Given the description of an element on the screen output the (x, y) to click on. 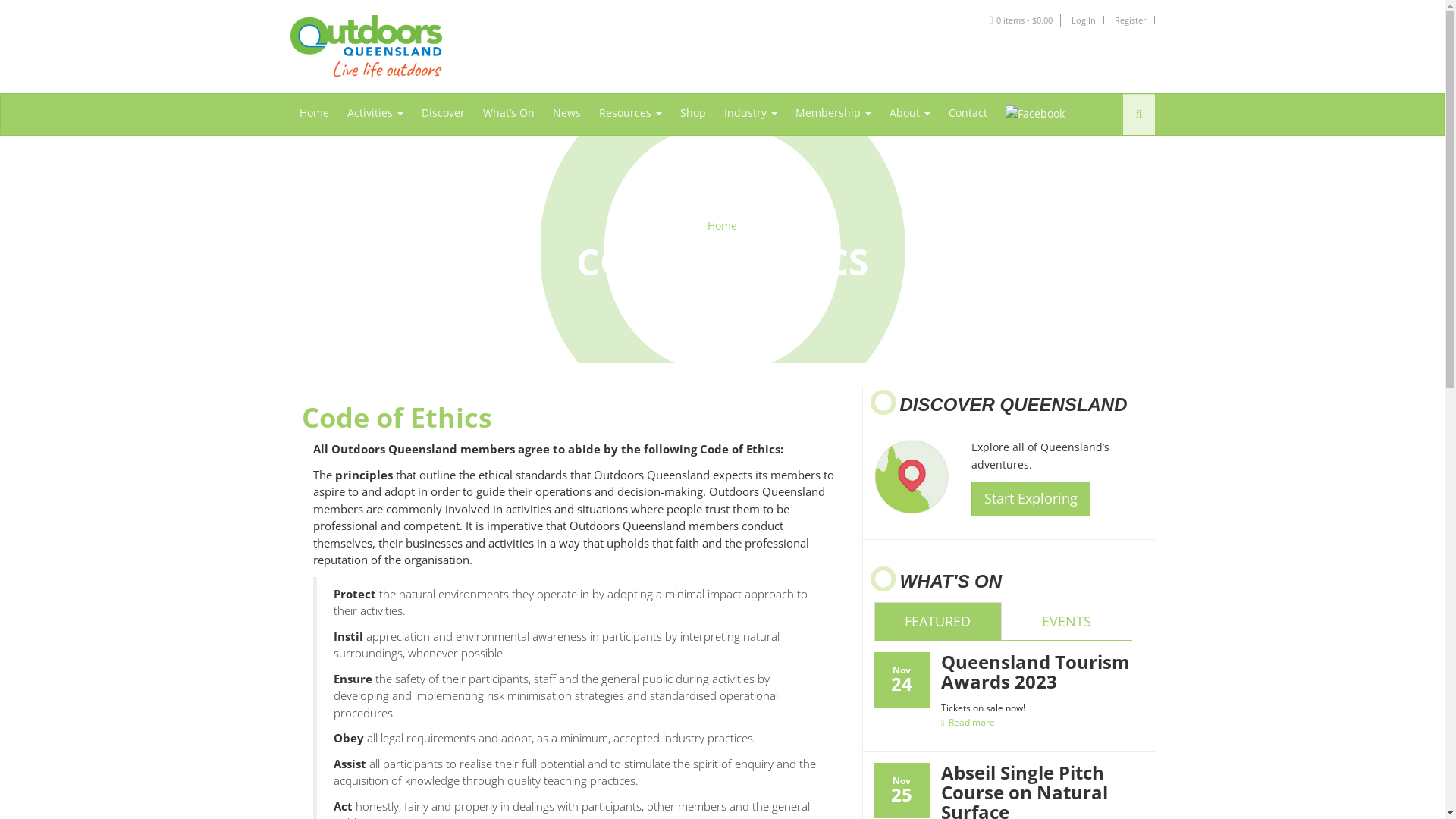
Read more Element type: text (967, 721)
Discover Element type: text (442, 112)
Start Exploring Element type: text (1030, 498)
Home Element type: text (722, 225)
Home Element type: text (313, 112)
Contact Element type: text (966, 112)
Shop Element type: text (692, 112)
Discover Queensland Element type: hover (910, 476)
Activities Element type: text (375, 112)
EVENTS Element type: text (1065, 621)
Log In Element type: text (1082, 19)
Industry Element type: text (749, 112)
About Element type: text (908, 112)
News Element type: text (565, 112)
Resources Element type: text (630, 112)
0 items - $0.00 Element type: text (1024, 19)
Membership Element type: text (832, 112)
FEATURED Element type: text (937, 621)
Register Element type: text (1130, 19)
